Given the description of an element on the screen output the (x, y) to click on. 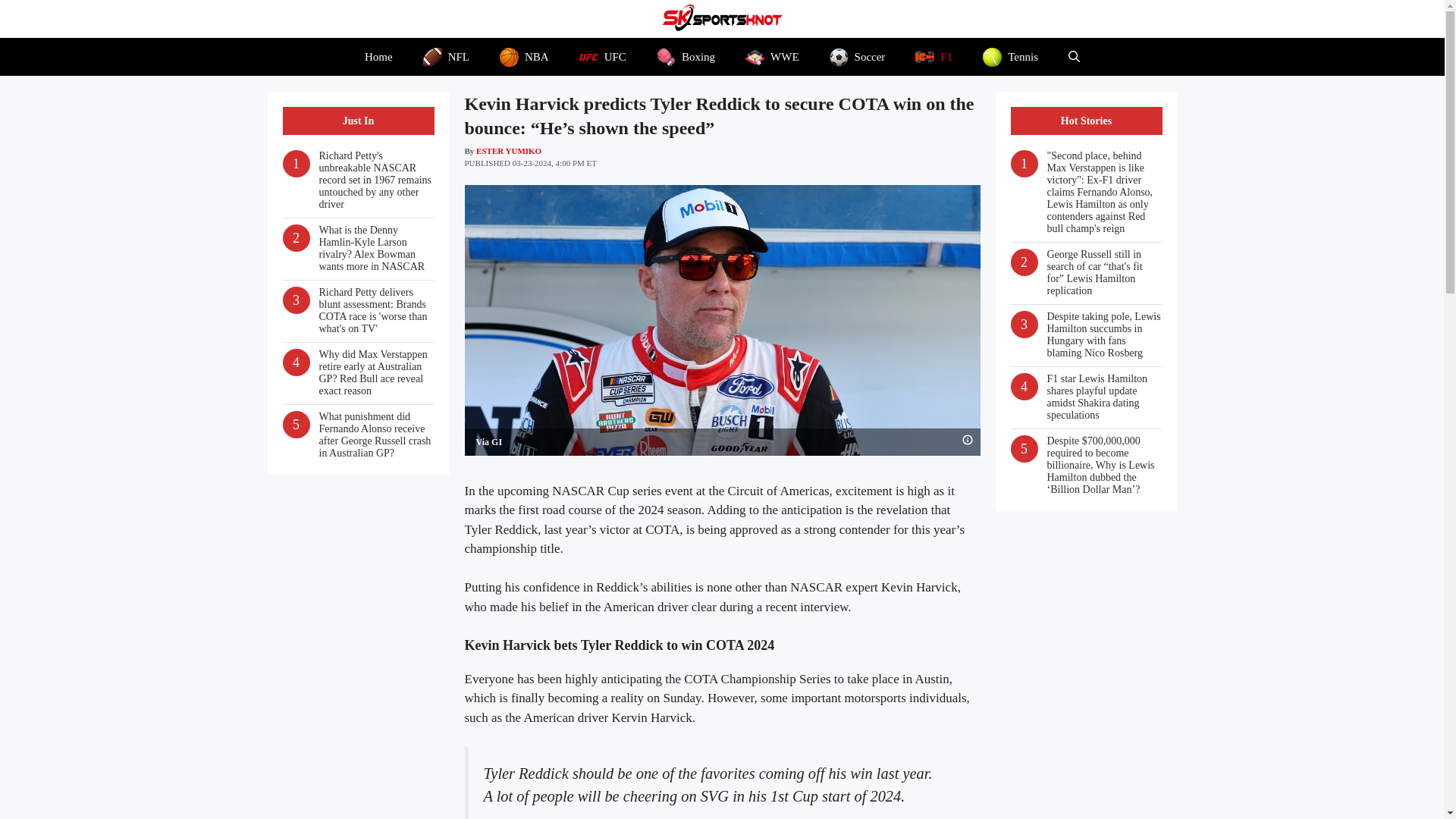
WWE (771, 56)
UFC (603, 56)
ESTER YUMIKO (508, 149)
Home (378, 56)
F1 (933, 56)
View all posts by Ester Yumiko (508, 149)
Tennis (1010, 56)
Soccer (857, 56)
Boxing (686, 56)
